Given the description of an element on the screen output the (x, y) to click on. 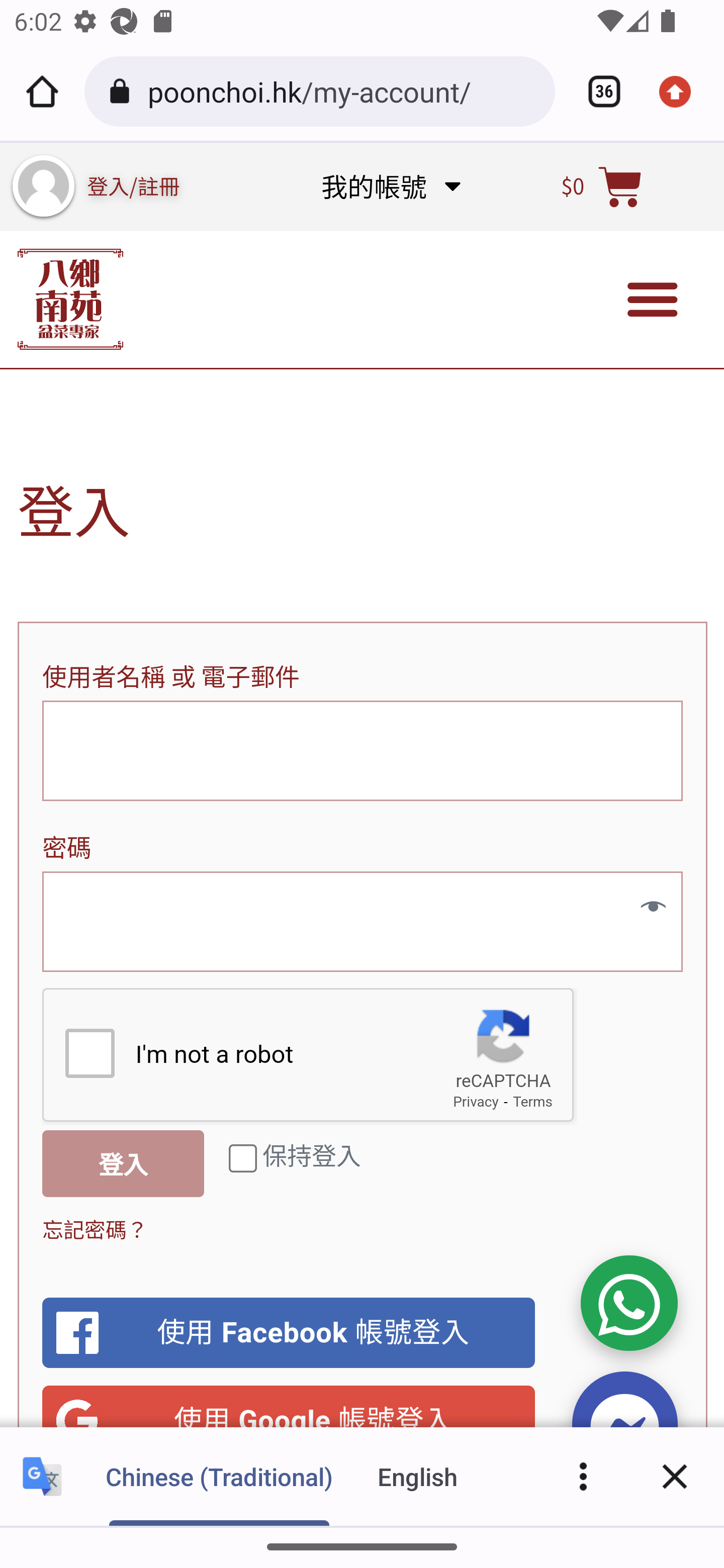
Home (42, 91)
Connection is secure (122, 91)
Switch or close tabs (597, 91)
Update available. More options (681, 91)
poonchoi.hk/my-account/ (343, 90)
$0  購物籃 $ 0  (601, 186)
我的帳號  我的帳號  (390, 185)
my-account (43, 186)
登入/註冊 (133, 185)
www.poonchoi (70, 299)
選單切換 (652, 299)
 (645, 906)
I'm not a robot (89, 1052)
Privacy (475, 1101)
Terms (533, 1101)
登入 (123, 1162)
保持登入 (243, 1157)
忘記密碼？ (95, 1228)
使用 <b>Facebook</b> 帳號登入 使用 Facebook 帳號登入 (288, 1332)
English (417, 1475)
More options (582, 1475)
Close (674, 1475)
